Given the description of an element on the screen output the (x, y) to click on. 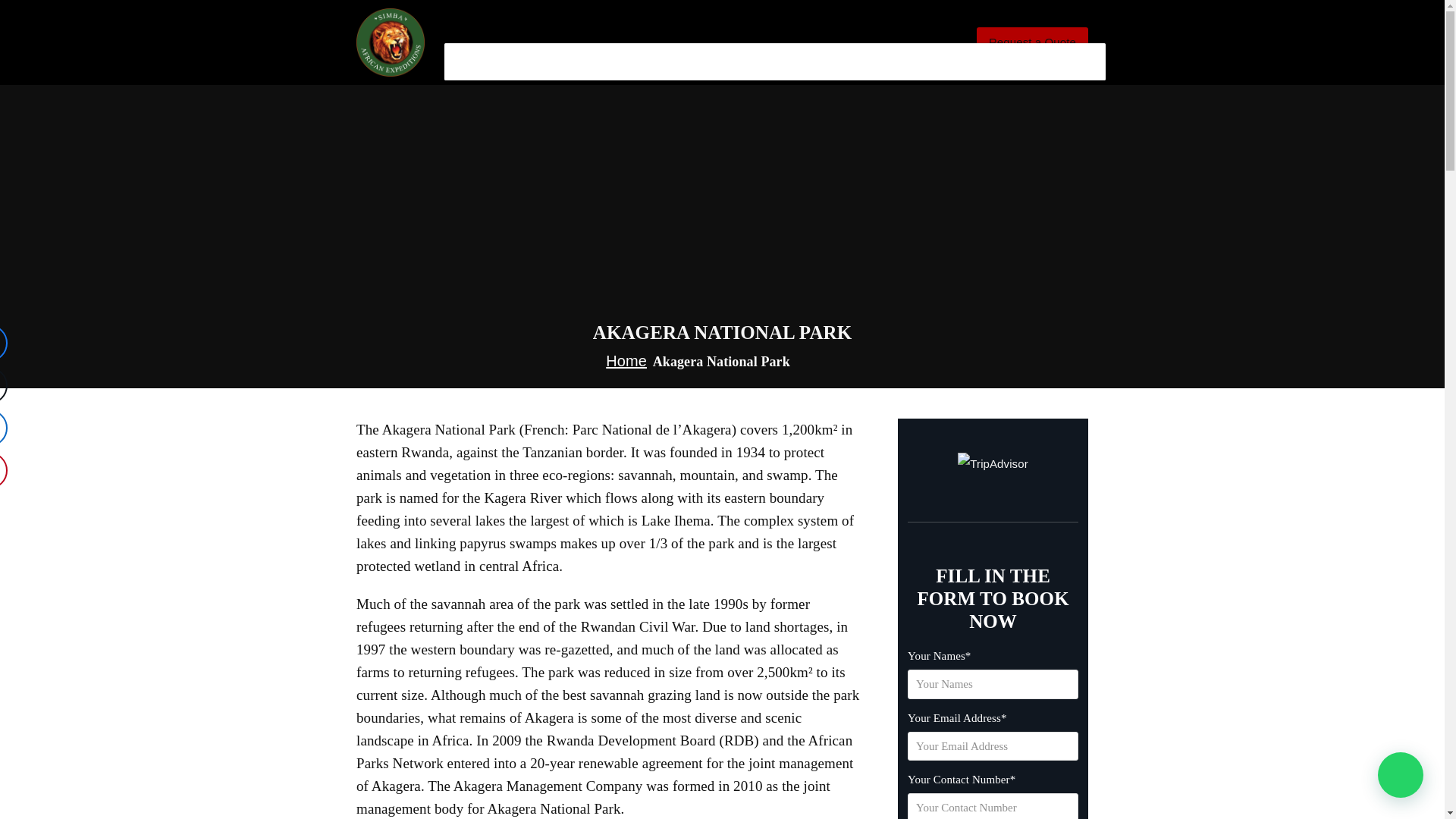
BLOG (972, 57)
Home (625, 360)
Day Tours (781, 57)
HOME (471, 57)
CONTACT US (1055, 57)
SAFARIS (682, 58)
Blog  (972, 57)
Safaris (682, 58)
GORILLA TOURS (567, 57)
Home (471, 57)
